Given the description of an element on the screen output the (x, y) to click on. 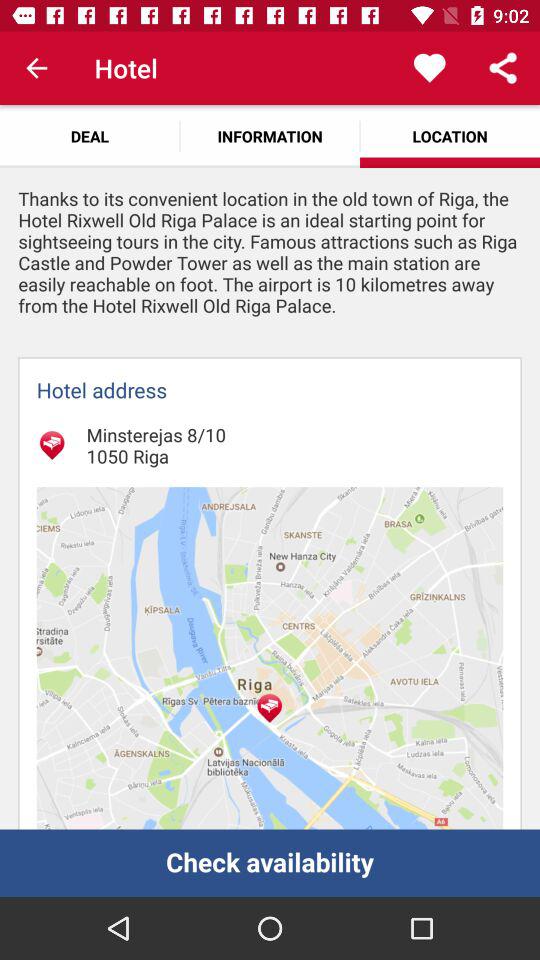
launch item below minsterejas 8 10 item (269, 658)
